Given the description of an element on the screen output the (x, y) to click on. 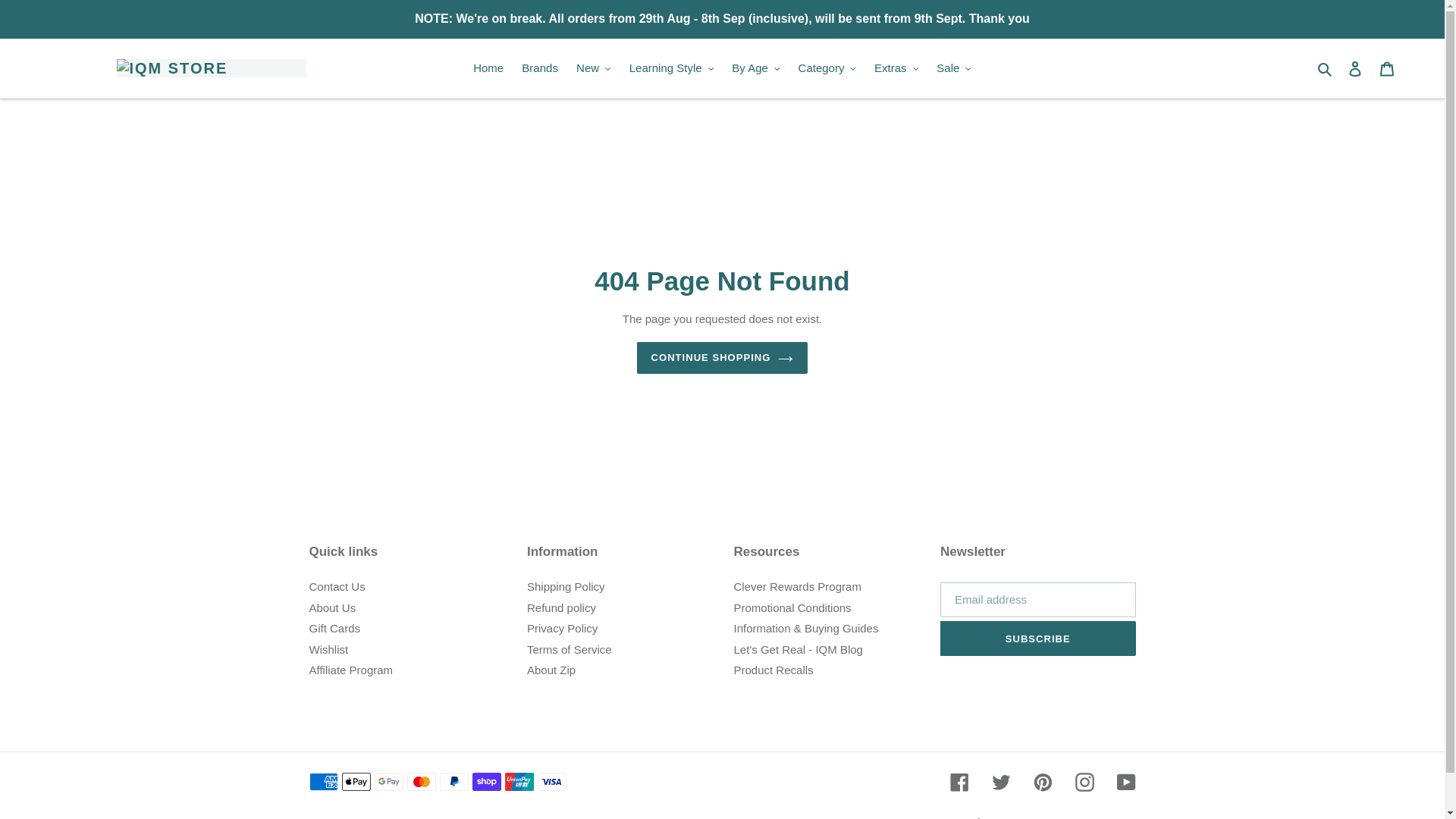
American Express (322, 782)
Mastercard (420, 782)
Learning Style (670, 68)
Visa (551, 782)
Apple Pay (354, 782)
PayPal (453, 782)
New (593, 68)
Union Pay (519, 782)
Shop Pay (485, 782)
Home (488, 68)
